Given the description of an element on the screen output the (x, y) to click on. 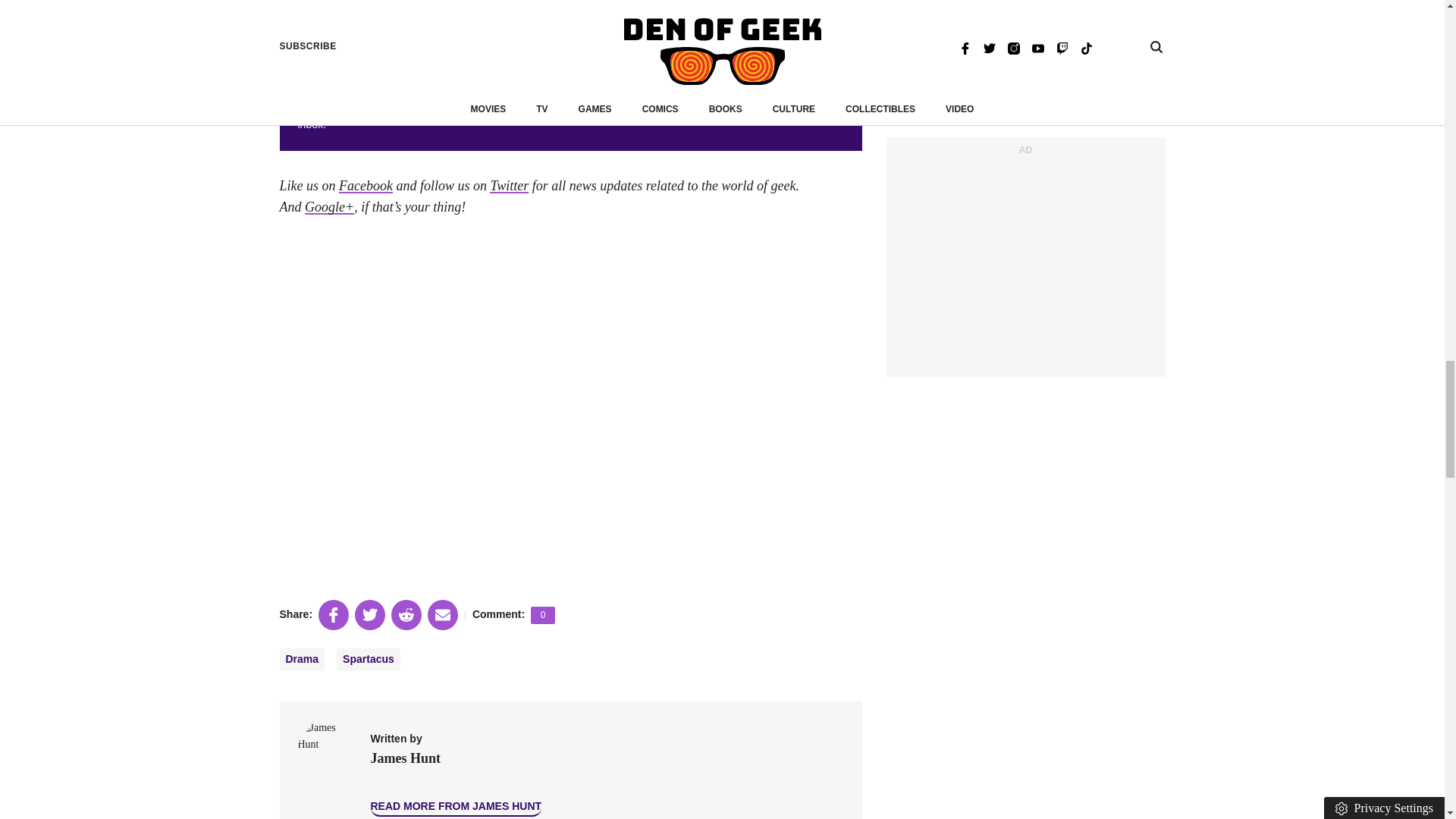
Subscribe (829, 101)
Facebook (366, 185)
review of the previous episode, The Dead and the Dying, here (518, 17)
Twitter (508, 185)
